Given the description of an element on the screen output the (x, y) to click on. 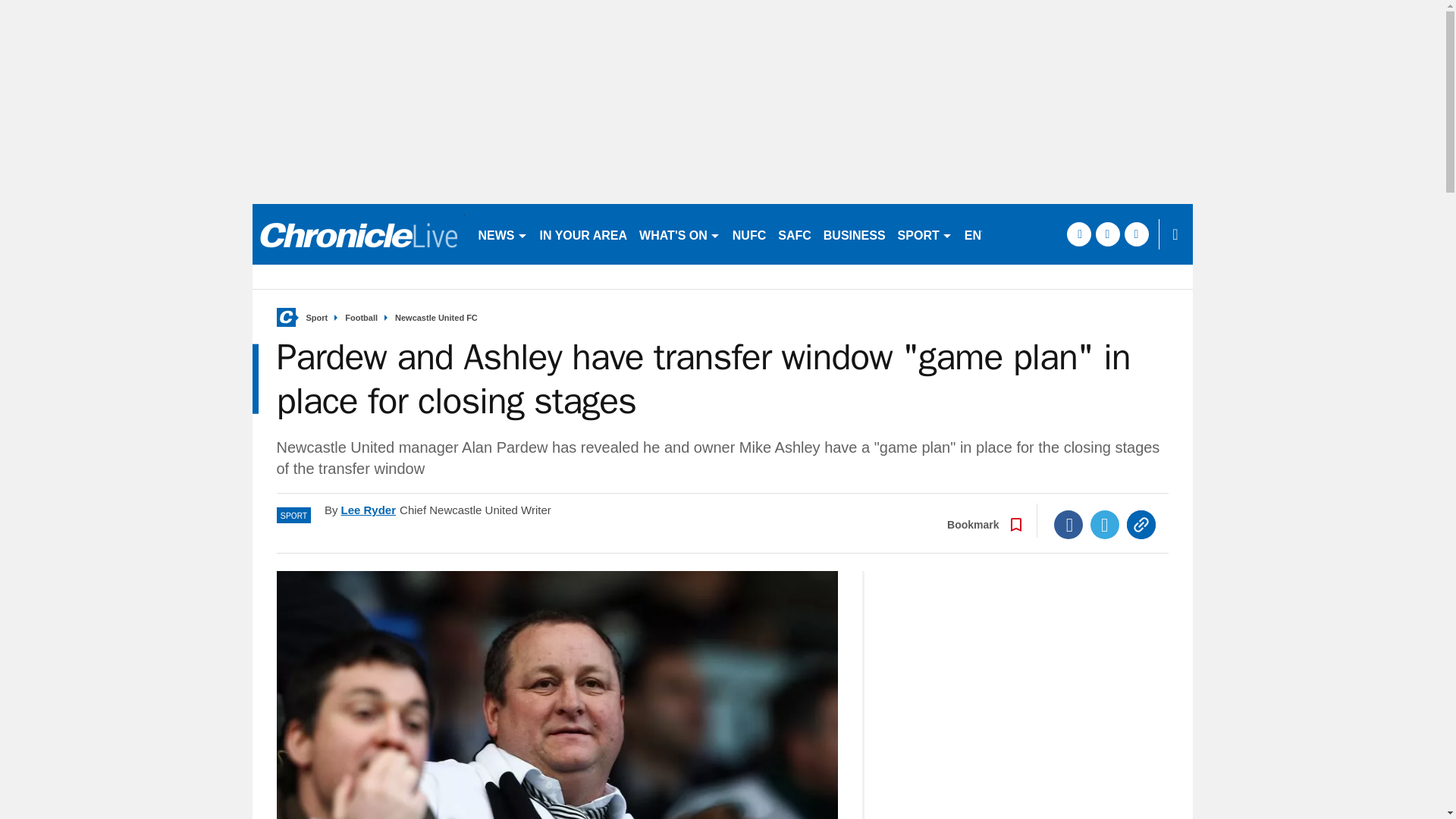
WHAT'S ON (679, 233)
instagram (1136, 233)
Facebook (1068, 524)
BUSINESS (853, 233)
nechronicle (357, 233)
NEWS (501, 233)
facebook (1077, 233)
twitter (1106, 233)
SPORT (924, 233)
IN YOUR AREA (583, 233)
Twitter (1104, 524)
